Given the description of an element on the screen output the (x, y) to click on. 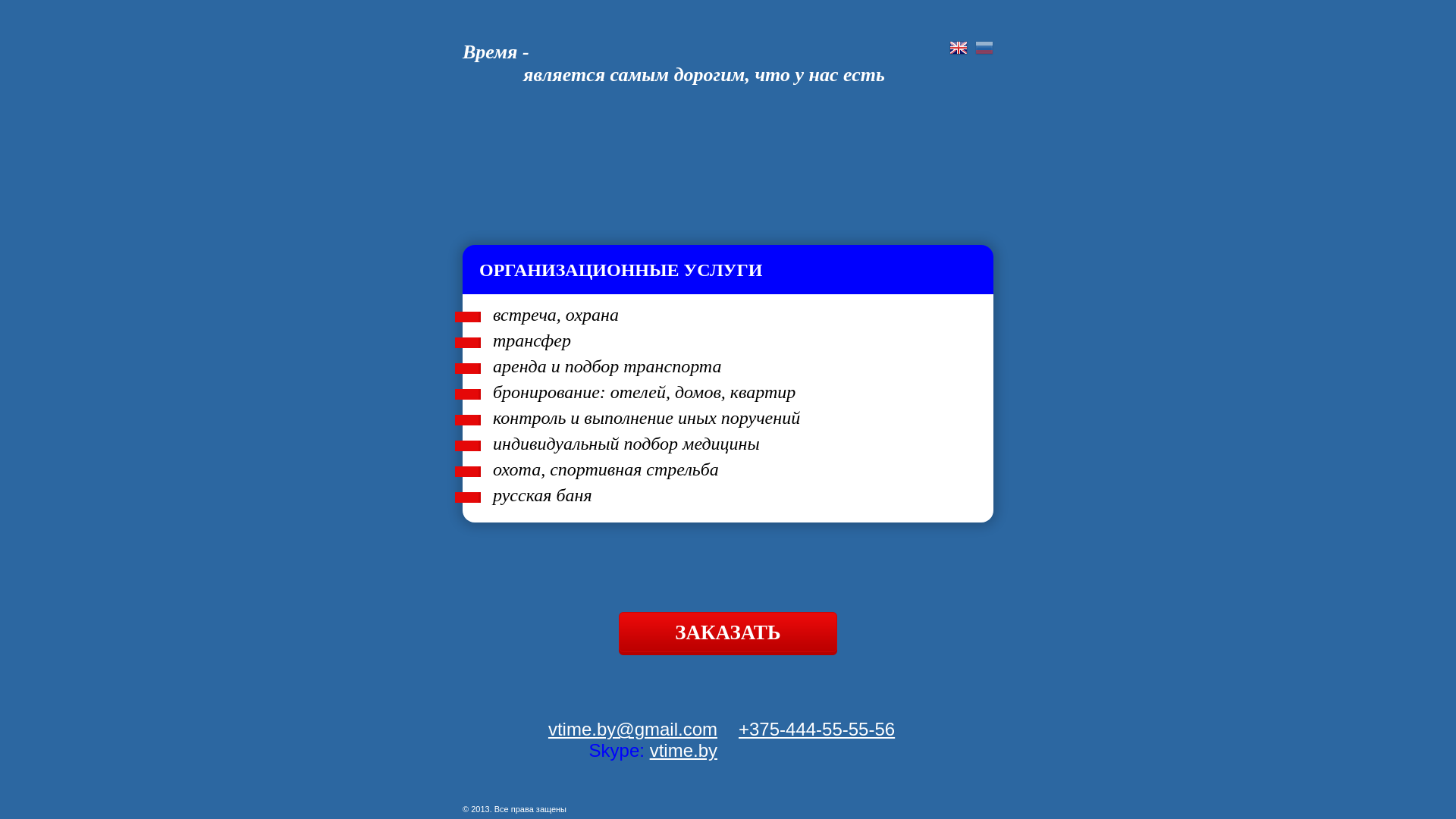
vtime.by@gmail.com Element type: text (632, 728)
vtime.by Element type: text (683, 750)
+375-444-55-55-56 Element type: text (816, 728)
